Given the description of an element on the screen output the (x, y) to click on. 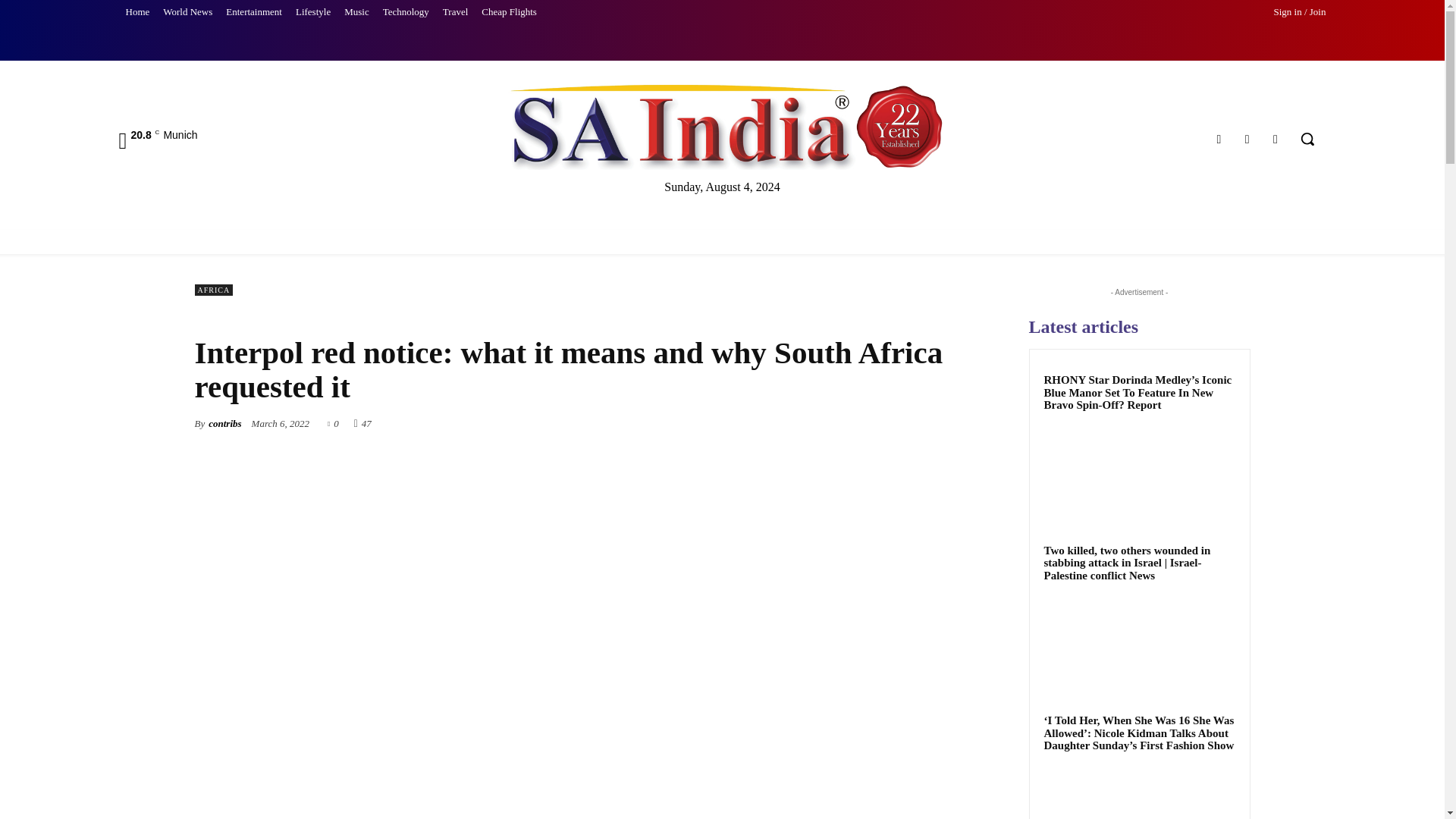
Twitter (1246, 138)
Facebook (1218, 138)
Youtube (1275, 138)
